Given the description of an element on the screen output the (x, y) to click on. 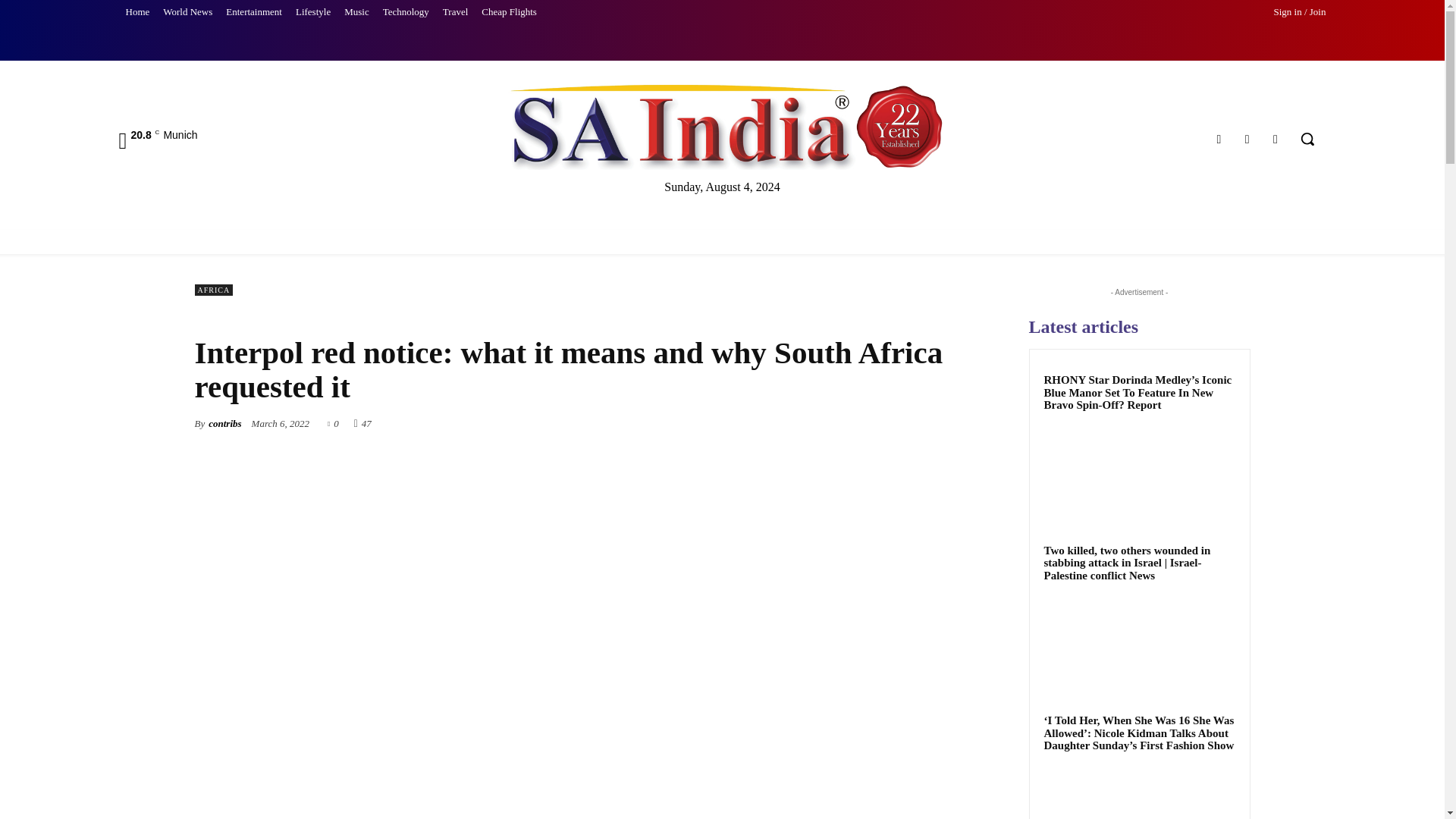
Twitter (1246, 138)
Facebook (1218, 138)
Youtube (1275, 138)
